Given the description of an element on the screen output the (x, y) to click on. 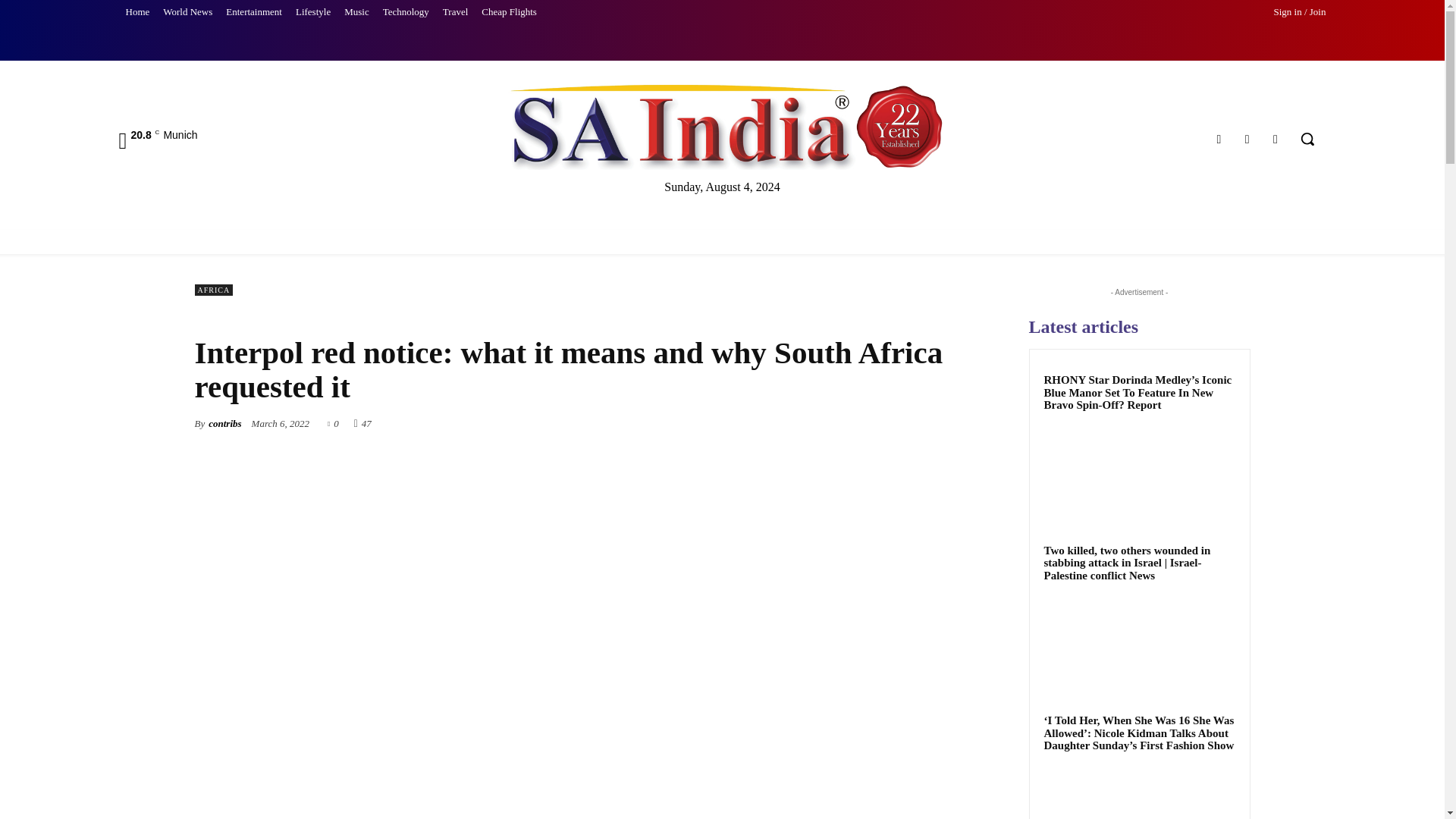
Twitter (1246, 138)
Facebook (1218, 138)
Youtube (1275, 138)
